Given the description of an element on the screen output the (x, y) to click on. 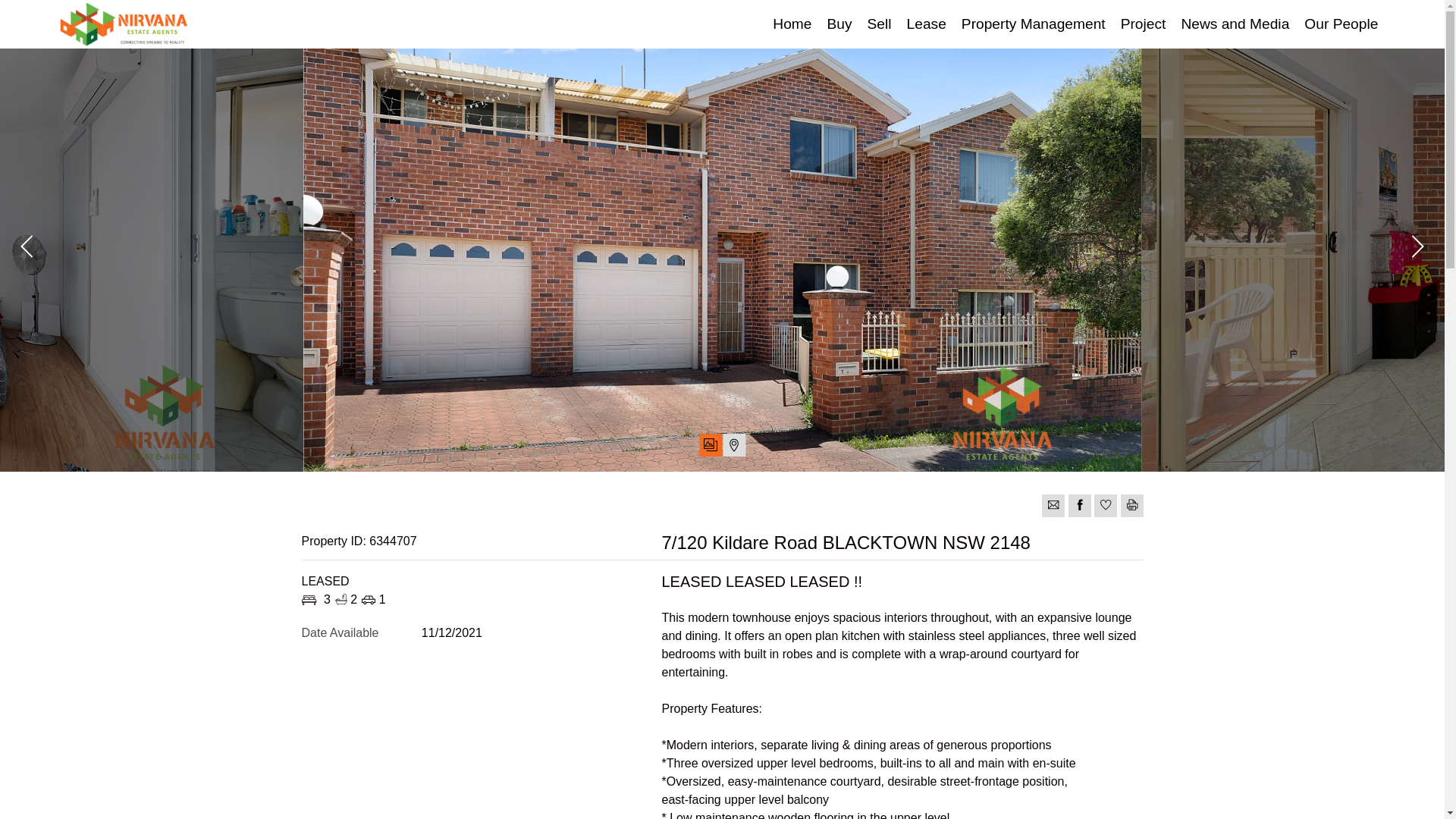
Add Favourites Element type: hover (1105, 505)
Our People Element type: text (1340, 23)
Project Element type: text (1143, 23)
Share on Facebook Element type: hover (1079, 505)
Buy Element type: text (839, 23)
News and Media Element type: text (1234, 23)
Print Element type: hover (1131, 505)
Lease Element type: text (926, 23)
Sell Element type: text (879, 23)
Property Management Element type: text (1033, 23)
Email a Friend Element type: hover (1052, 505)
Home Element type: text (792, 23)
